Given the description of an element on the screen output the (x, y) to click on. 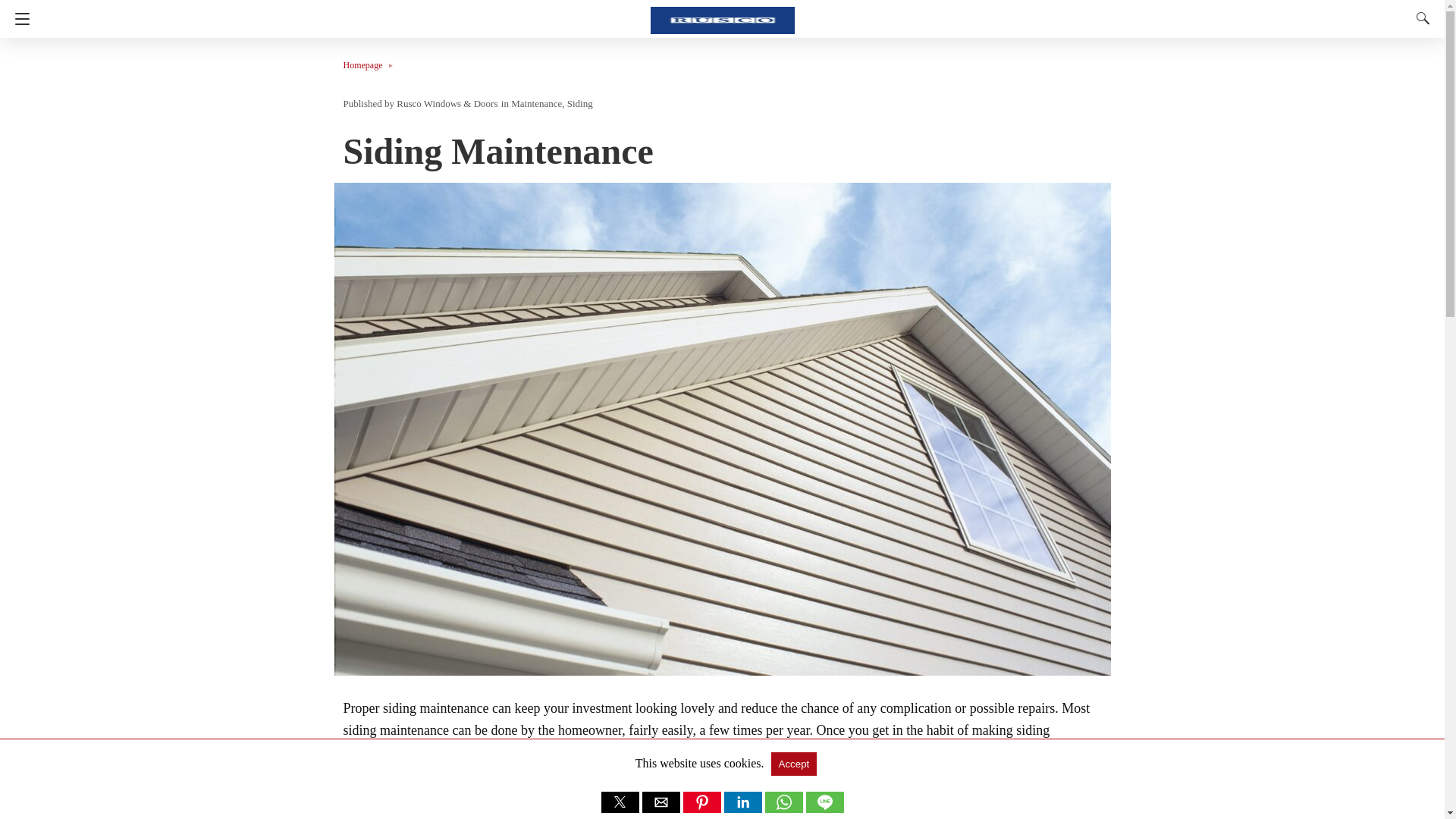
Maintenance (536, 102)
Homepage (369, 64)
Accept (793, 763)
Homepage (369, 64)
Siding (579, 102)
Rusco Exteriors (722, 13)
